Given the description of an element on the screen output the (x, y) to click on. 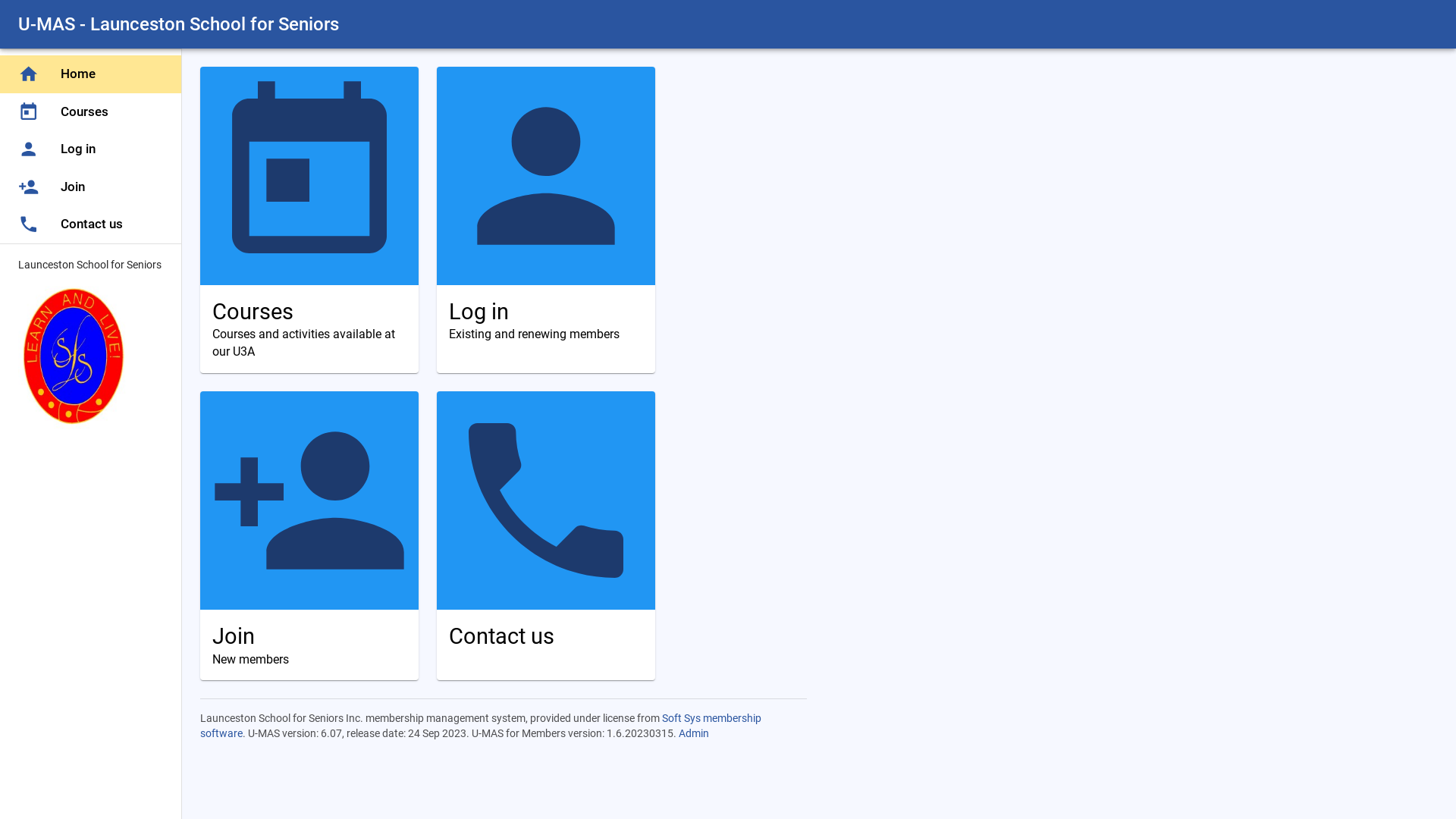
Courses
Courses and activities available at our U3A Element type: text (309, 219)
Contact us Element type: text (545, 535)
Admin Element type: text (693, 733)
Log in
Existing and renewing members Element type: text (545, 219)
Contact us Element type: text (90, 224)
Log in Element type: text (90, 149)
Launceston School for Seniors Element type: text (90, 344)
Home Element type: text (90, 74)
Soft Sys membership software Element type: text (480, 725)
Courses Element type: text (90, 112)
Join Element type: text (90, 187)
Join
New members Element type: text (309, 535)
